Given the description of an element on the screen output the (x, y) to click on. 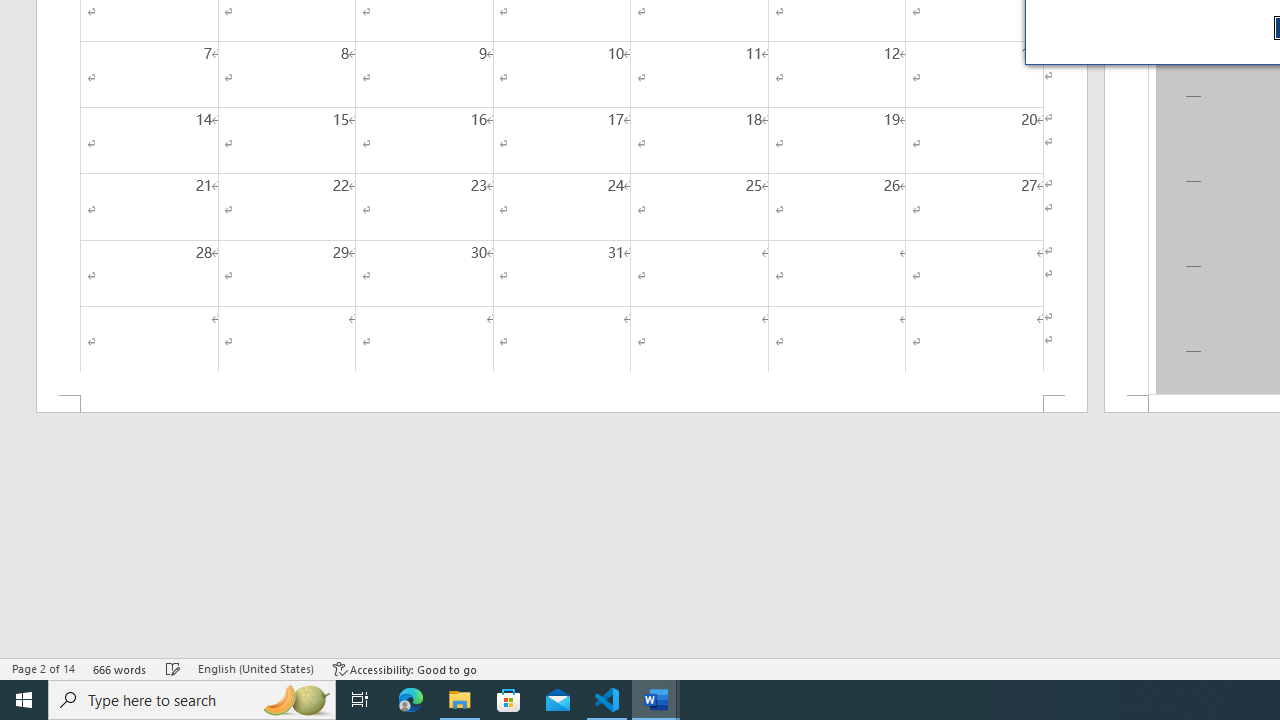
Page Number Page 2 of 14 (43, 668)
